Given the description of an element on the screen output the (x, y) to click on. 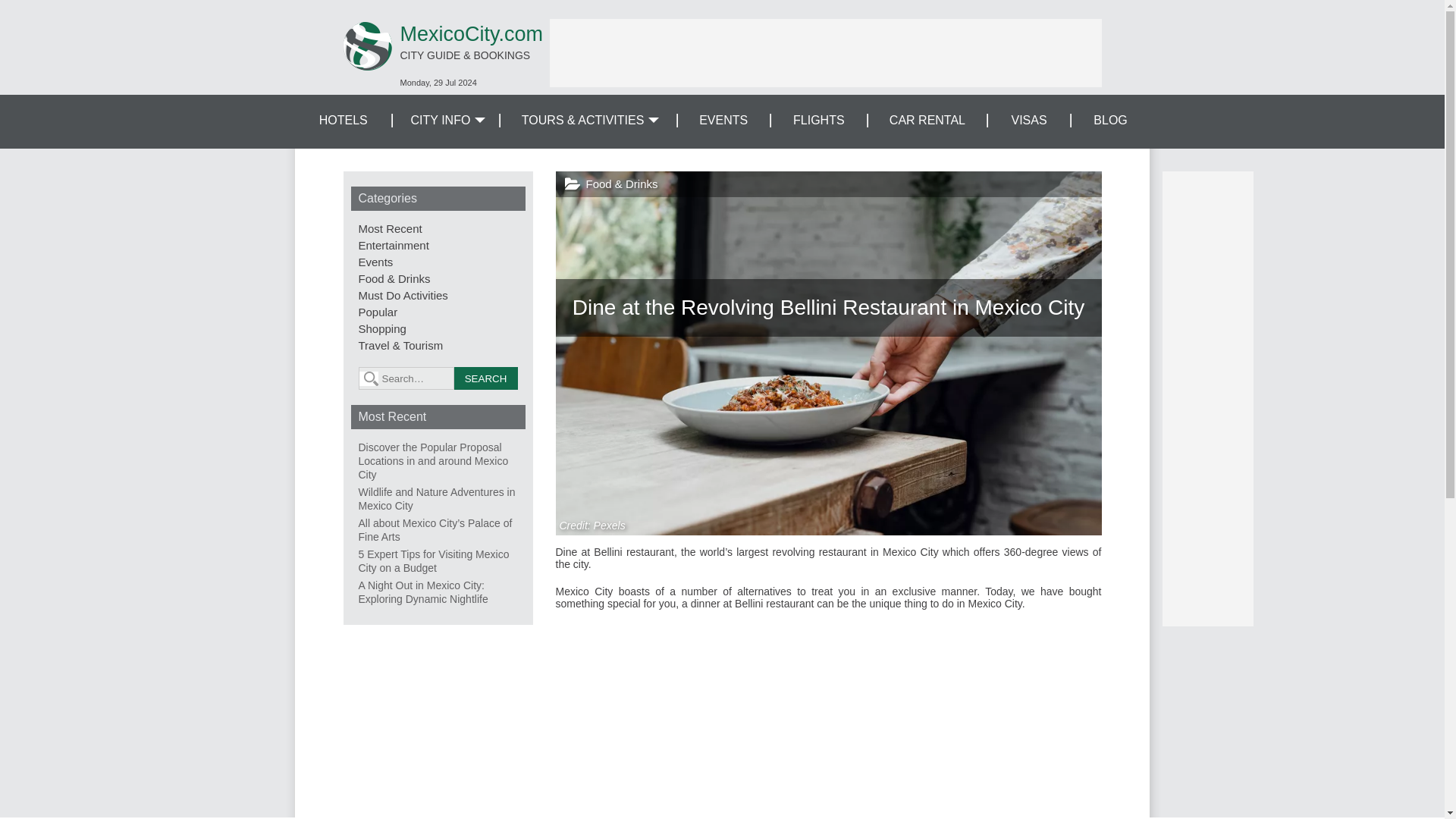
search (484, 377)
HOTELS (343, 120)
CITY INFO (445, 120)
